Given the description of an element on the screen output the (x, y) to click on. 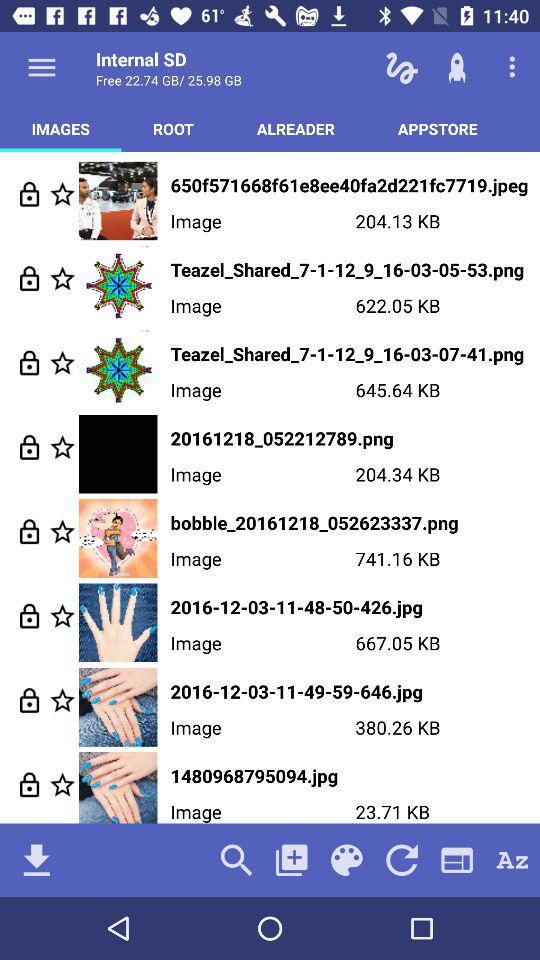
locked image (29, 784)
